Given the description of an element on the screen output the (x, y) to click on. 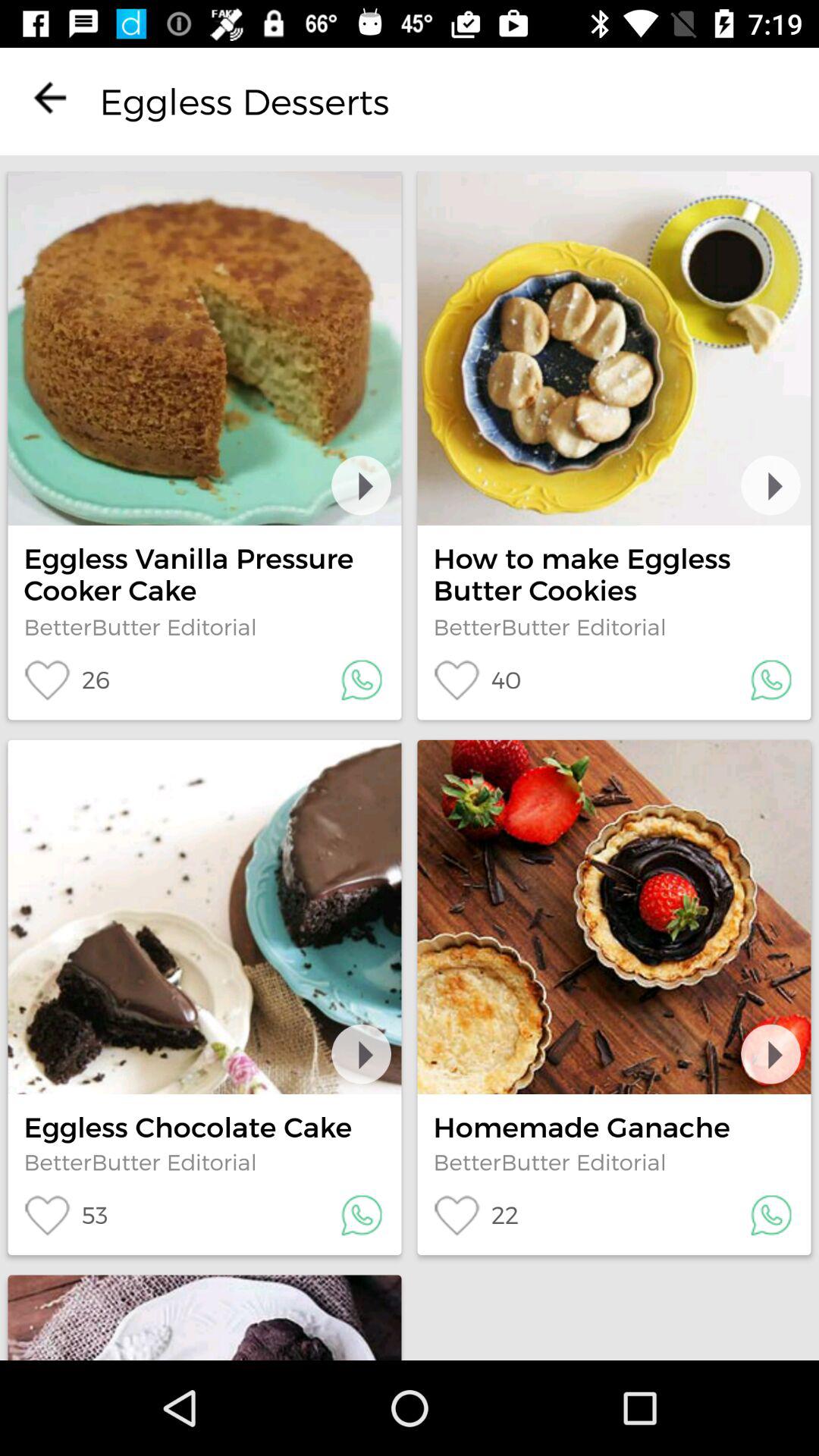
jump to the 22 icon (475, 1215)
